Given the description of an element on the screen output the (x, y) to click on. 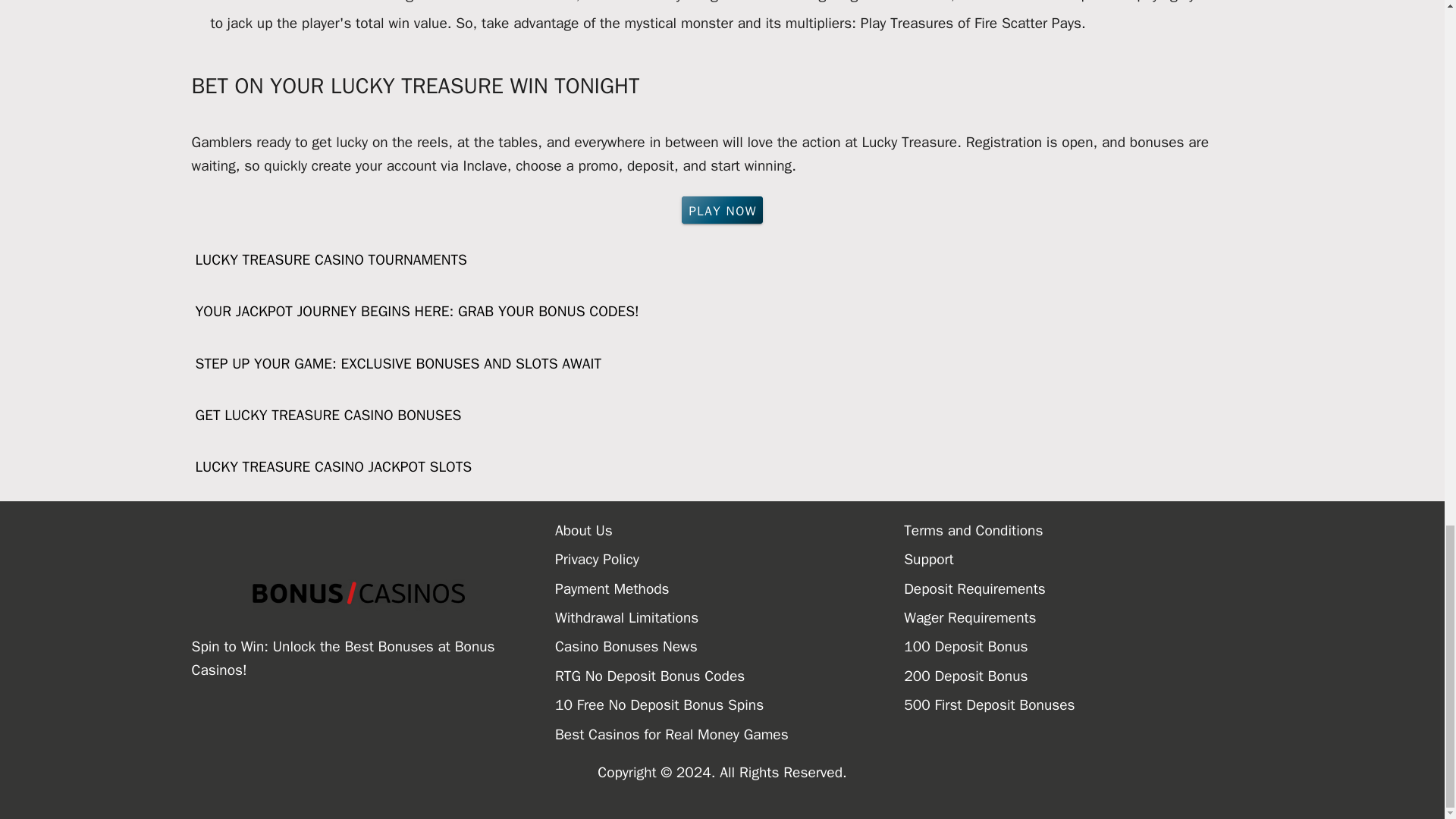
10 Free No Deposit Bonus Spins (729, 705)
PLAY NOW (721, 209)
Terms and Conditions (1078, 530)
Payment Methods (729, 588)
Casino Bonuses News (729, 646)
Deposit Requirements (1078, 588)
RTG No Deposit Bonus Codes (729, 676)
Best Casinos for Real Money Games (729, 734)
Wager Requirements (1078, 617)
Support (1078, 559)
Privacy Policy (729, 559)
100 Deposit Bonus (1078, 646)
200 Deposit Bonus (1078, 676)
Withdrawal Limitations (729, 617)
About Us (729, 530)
